Given the description of an element on the screen output the (x, y) to click on. 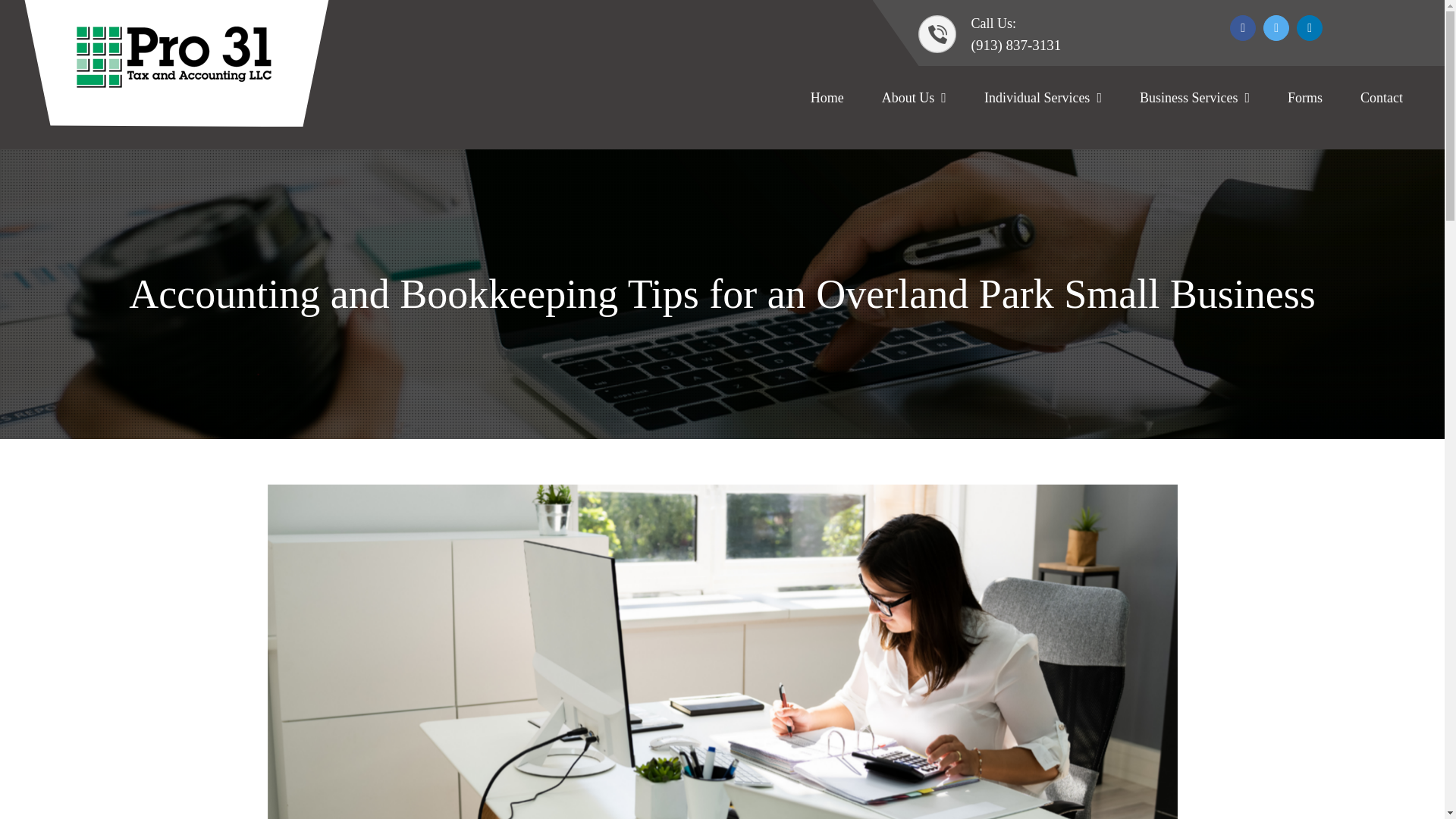
Call Us: (967, 23)
Business Services (1194, 96)
Contact (1381, 96)
Forms (1304, 96)
About Us (914, 96)
Facebook (1242, 27)
Home (827, 96)
Individual Services (1043, 96)
LinkedIn (1309, 27)
Twitter (1275, 27)
